Given the description of an element on the screen output the (x, y) to click on. 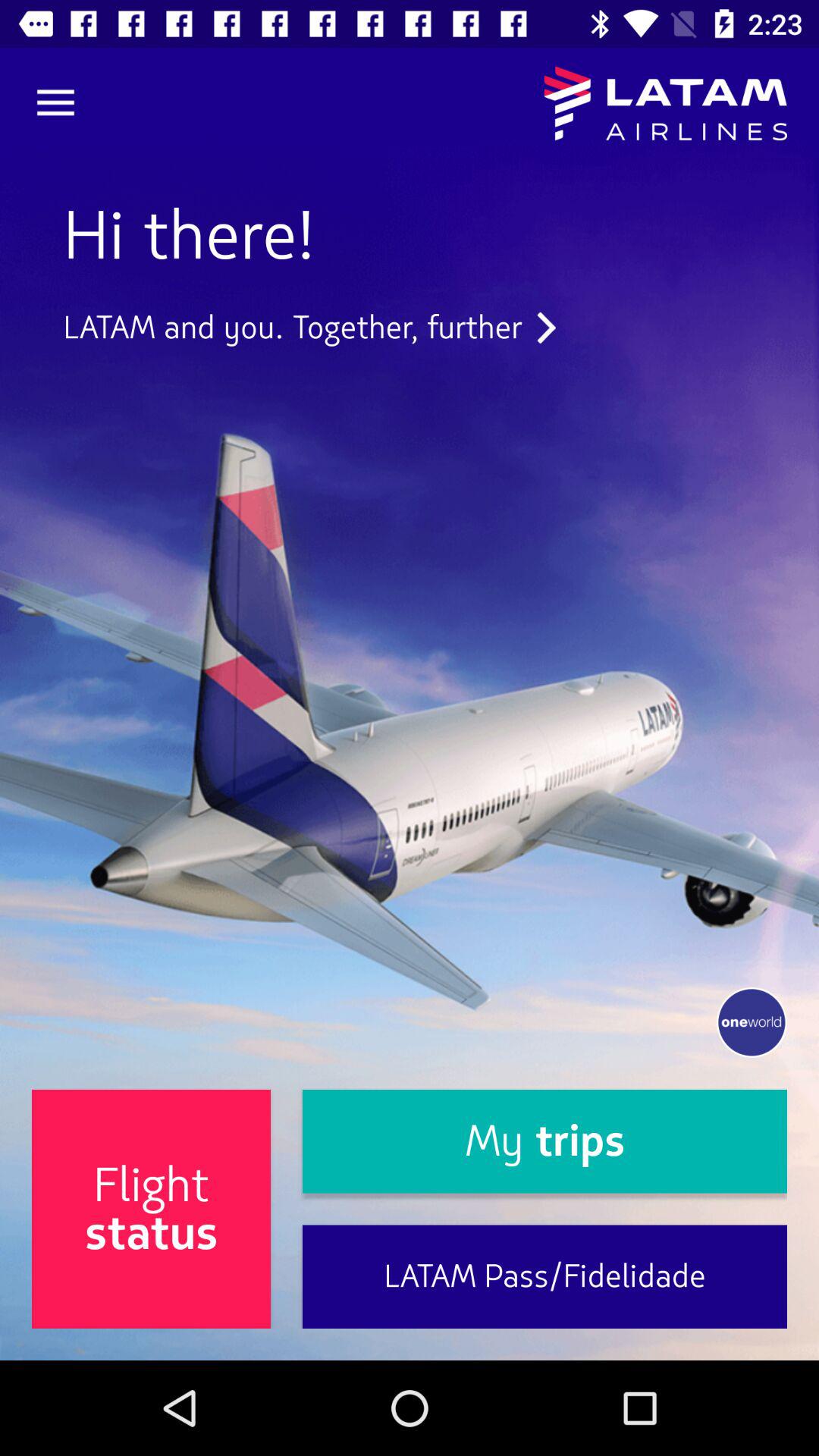
jump until latam pass/fidelidade item (544, 1276)
